Given the description of an element on the screen output the (x, y) to click on. 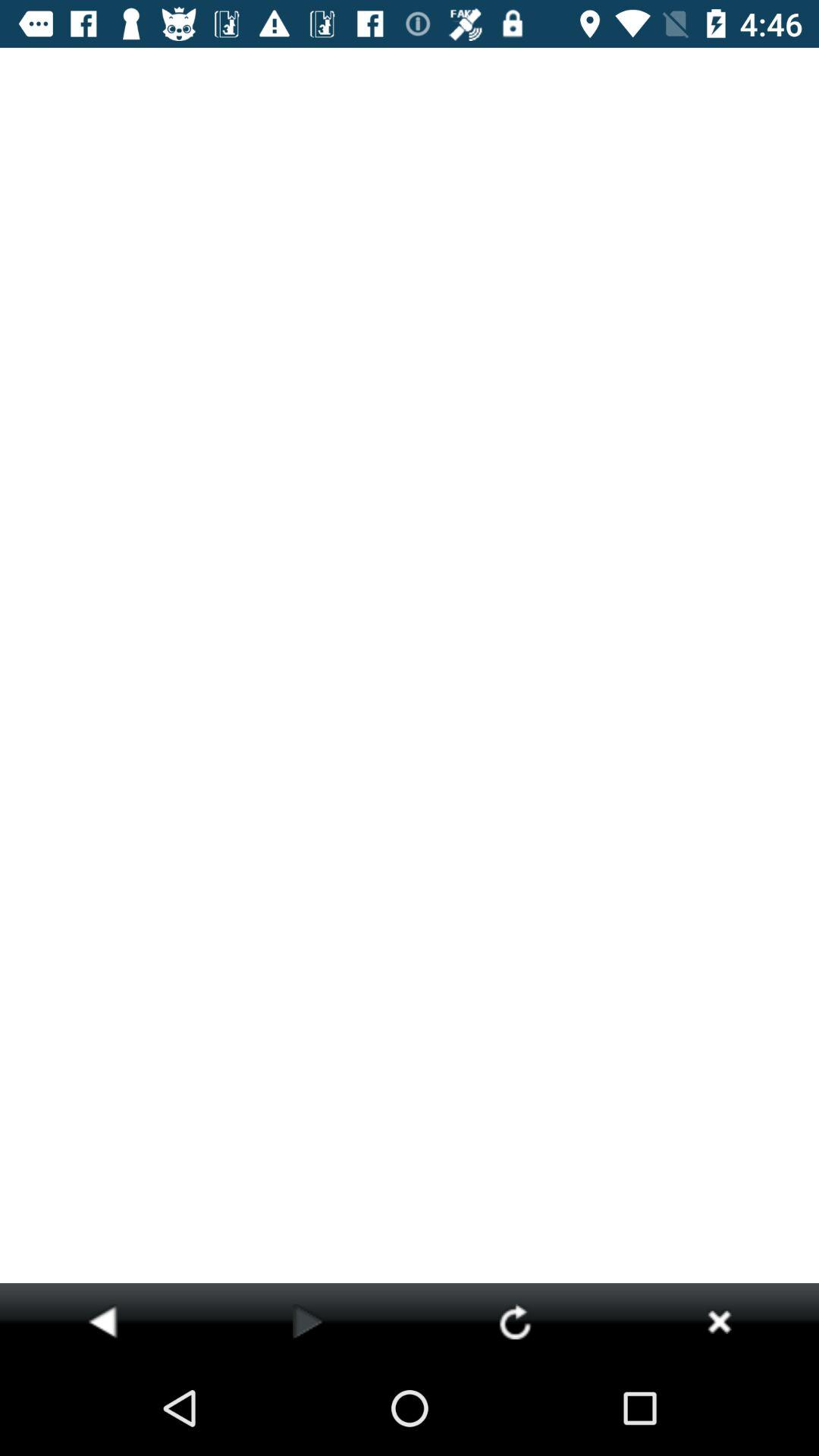
launch icon at the bottom right corner (719, 1321)
